Given the description of an element on the screen output the (x, y) to click on. 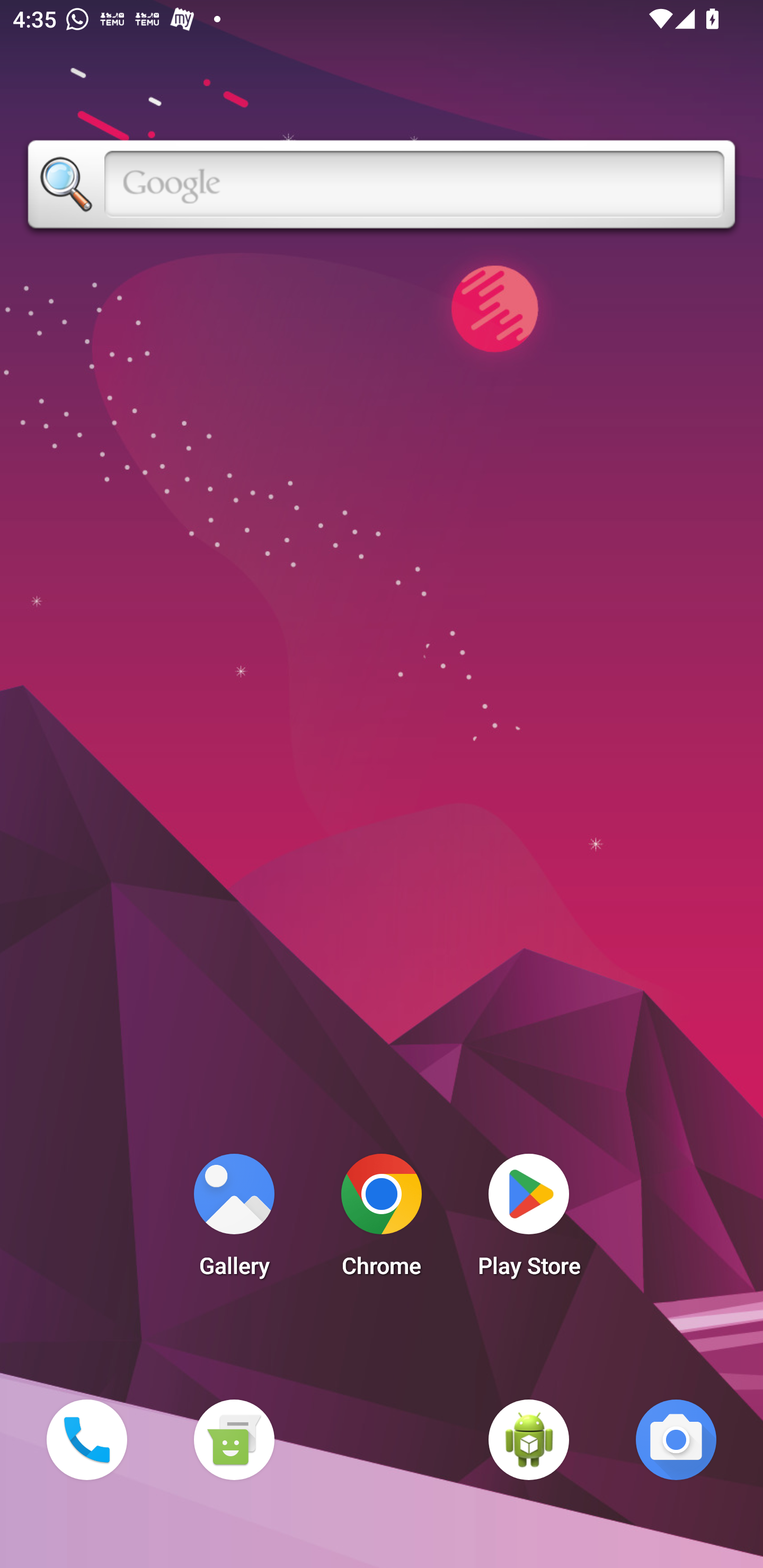
Gallery (233, 1220)
Chrome (381, 1220)
Play Store (528, 1220)
Phone (86, 1439)
Messaging (233, 1439)
WebView Browser Tester (528, 1439)
Camera (676, 1439)
